Given the description of an element on the screen output the (x, y) to click on. 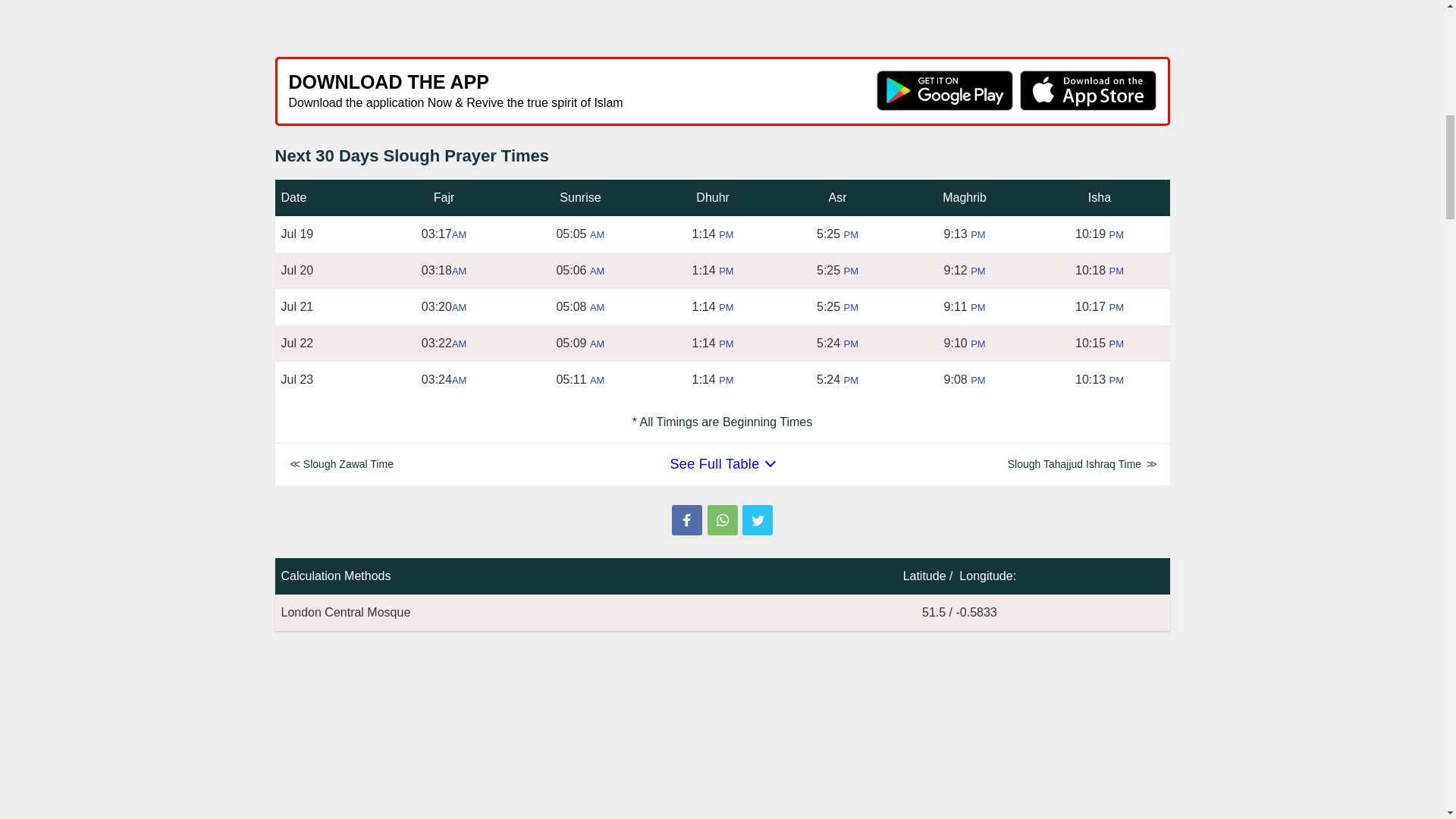
Apply Store (1087, 90)
See Full Table (722, 464)
Slough Tahajjud Ishraq Time (1081, 464)
Slough Zawal Time (341, 464)
Advertisement (722, 20)
Google Play Store (944, 90)
